Given the description of an element on the screen output the (x, y) to click on. 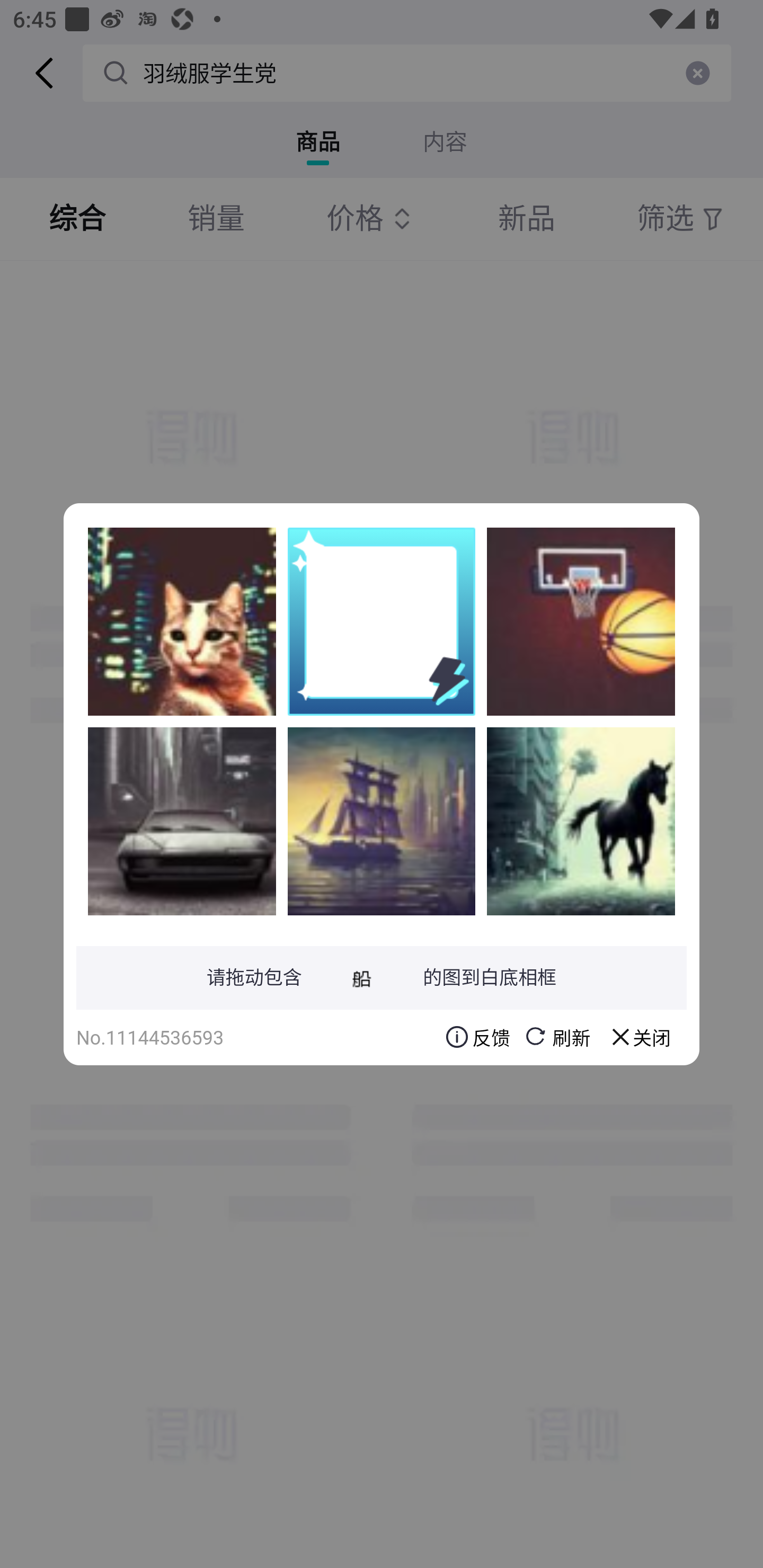
Pir973PuPfmcn7nGXS7z6NlZIZJzPP (181, 621)
Hy0Ty8fDIHLx5NpQV+ghf3R+LF3WG0wEF4fq (580, 621)
GIJn7 (381, 820)
tu6YjzlTMt5m4KCdz (580, 820)
